Given the description of an element on the screen output the (x, y) to click on. 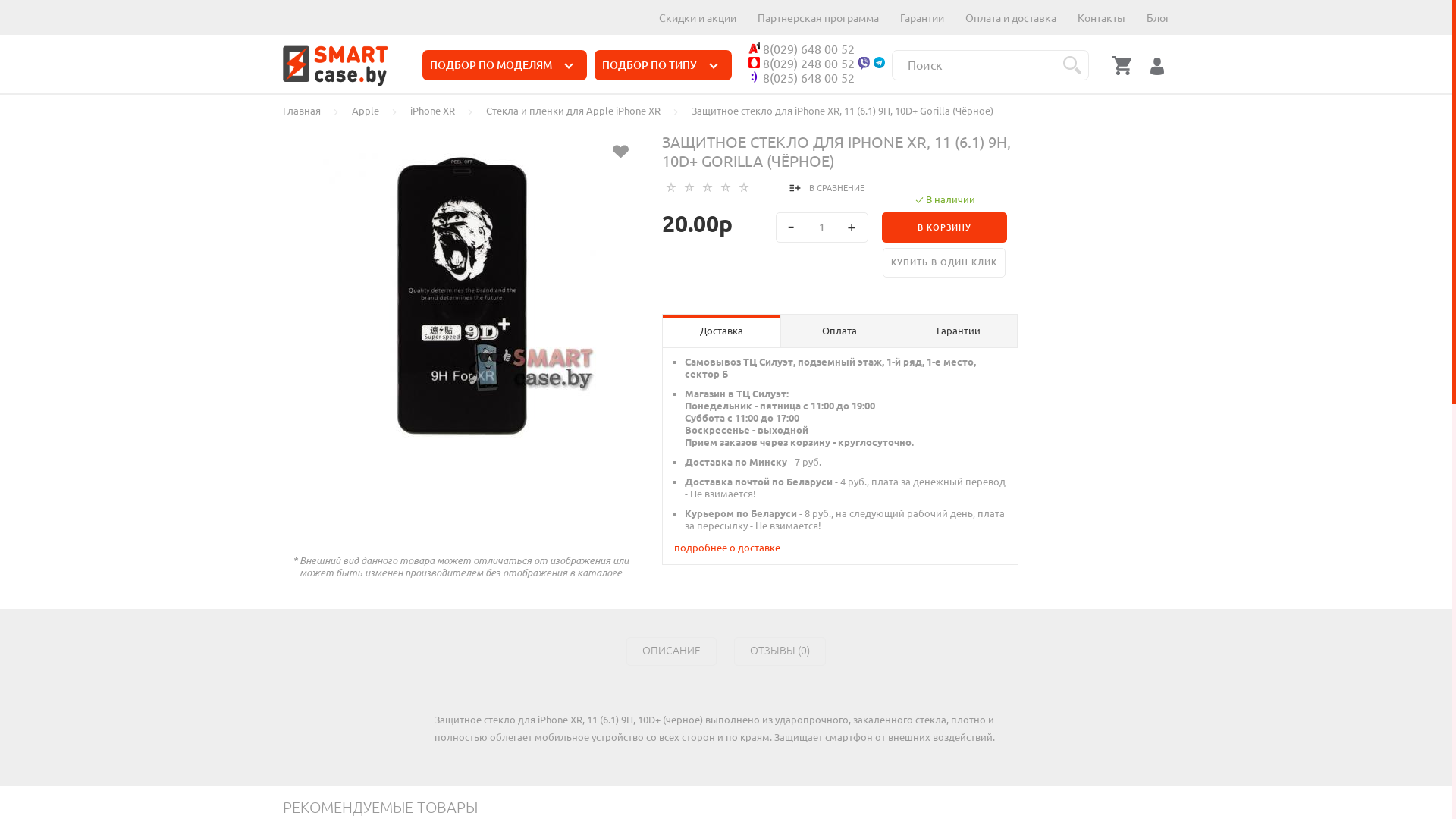
iPhone XR Element type: text (431, 110)
Apple Element type: text (365, 110)
8(029) 648 00 52 Element type: text (801, 49)
8(025) 648 00 52 Element type: text (801, 78)
8(029) 248 00 52 Element type: text (801, 63)
